Given the description of an element on the screen output the (x, y) to click on. 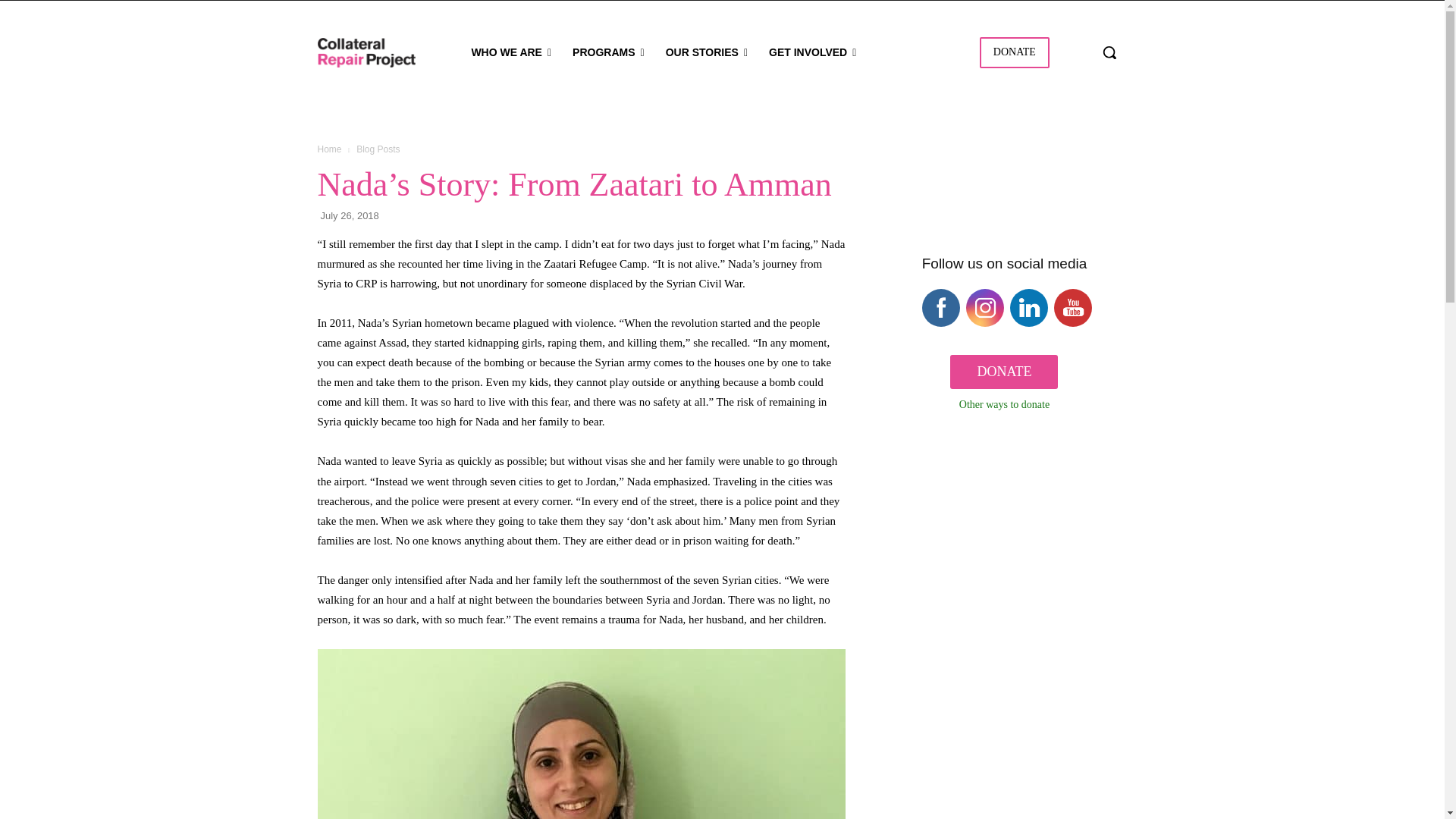
Helping you help refugees in Jordan (368, 52)
Instagram (985, 307)
Facebook (941, 307)
Helping you help refugees in Jordan (365, 52)
YouTube (1073, 307)
LinkedIn (1030, 307)
